Given the description of an element on the screen output the (x, y) to click on. 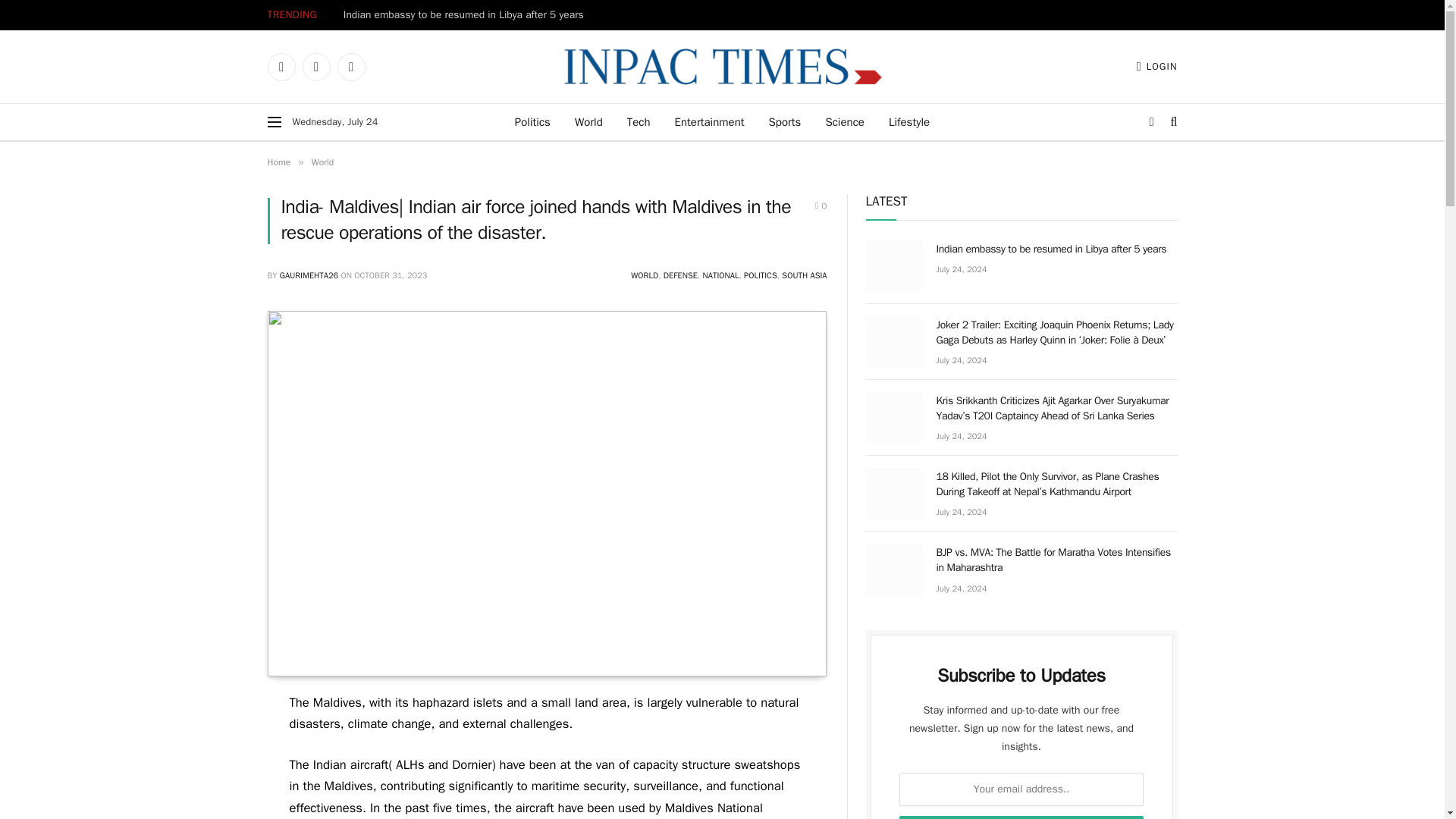
Entertainment (709, 122)
World (588, 122)
Posts by gaurimehta26 (308, 275)
Indo-Pacific Times (722, 66)
Science (844, 122)
Indian embassy to be resumed in Libya after 5 years (467, 15)
Tech (638, 122)
Switch to Dark Design - easier on eyes. (1151, 121)
Subscribe (1020, 817)
LOGIN (1157, 66)
Home (277, 162)
Sports (785, 122)
Facebook (280, 67)
2023-10-31 (389, 275)
Politics (532, 122)
